Given the description of an element on the screen output the (x, y) to click on. 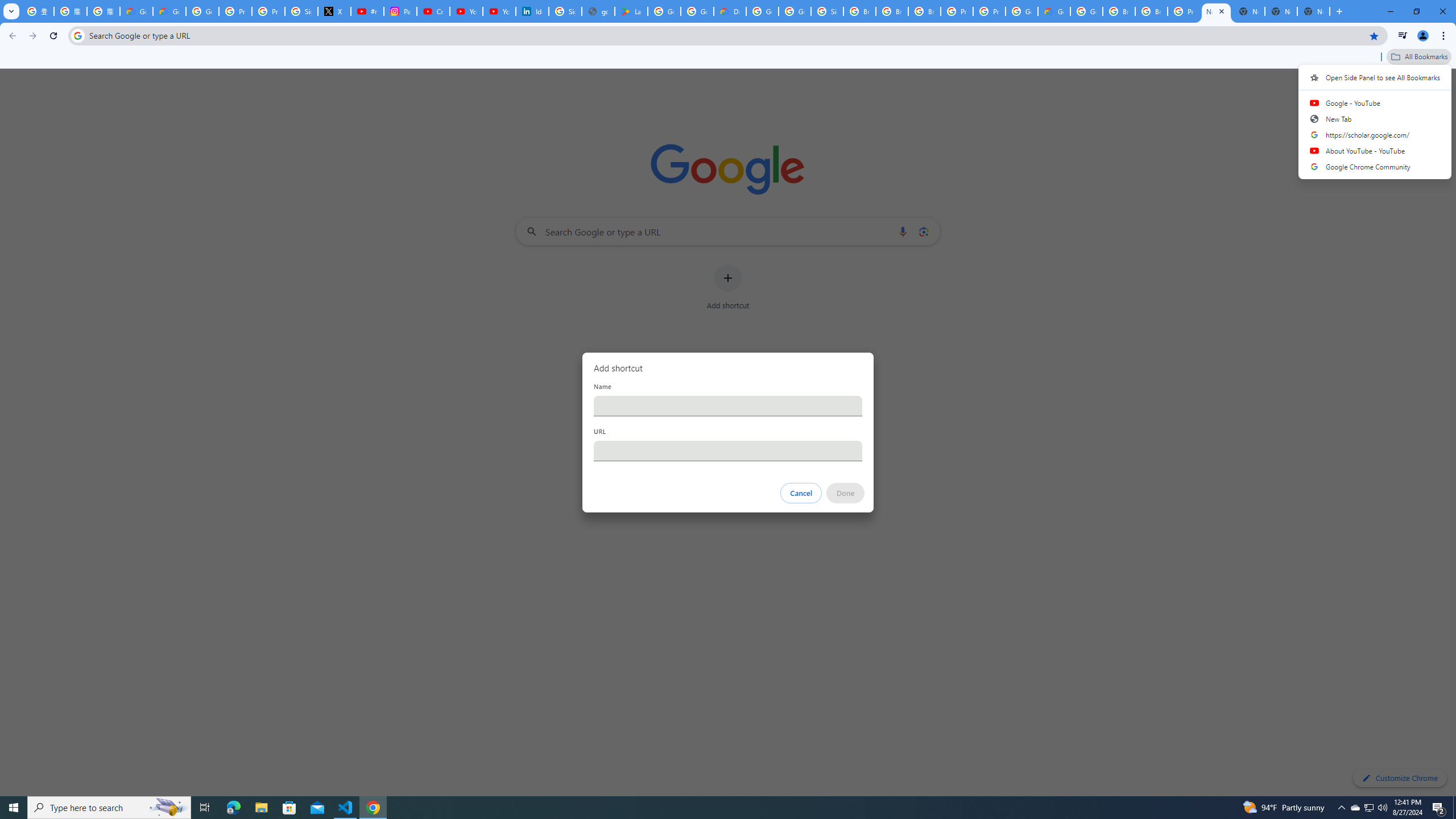
#nbabasketballhighlights - YouTube (367, 11)
Privacy Help Center - Policies Help (268, 11)
Restore (1416, 11)
Minimize (1390, 11)
Reload (52, 35)
X (334, 11)
Close (1222, 11)
Identity verification via Persona | LinkedIn Help (532, 11)
